Given the description of an element on the screen output the (x, y) to click on. 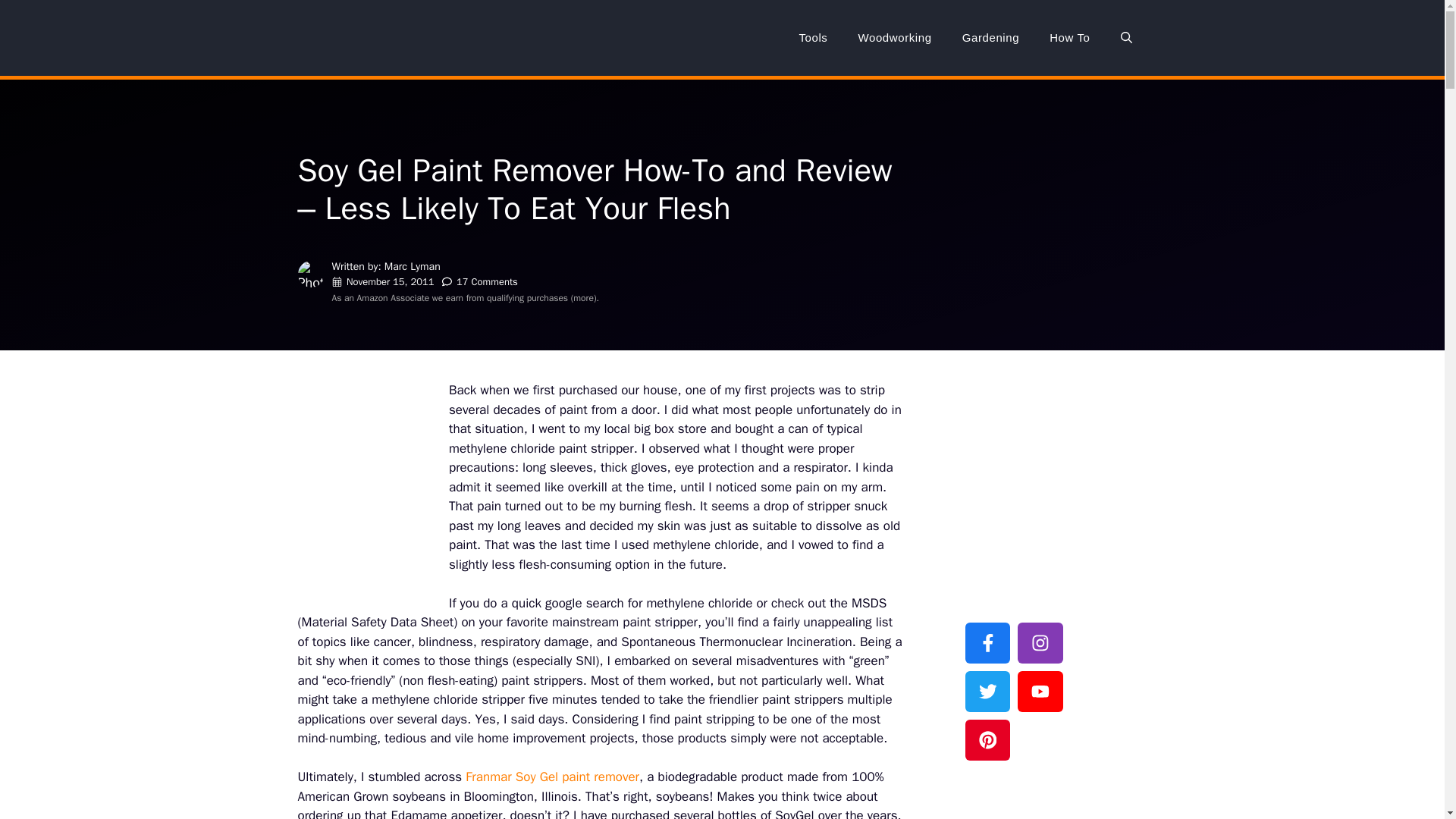
Marc Lyman (412, 266)
Tools (813, 37)
Woodworking (894, 37)
more (583, 297)
Franmar Soy Gel Paint Remover (552, 776)
Gardening (990, 37)
sponsored-by (1023, 402)
How To (1069, 37)
17 Comments (487, 281)
Franmar Soy Gel paint remover (552, 776)
